Given the description of an element on the screen output the (x, y) to click on. 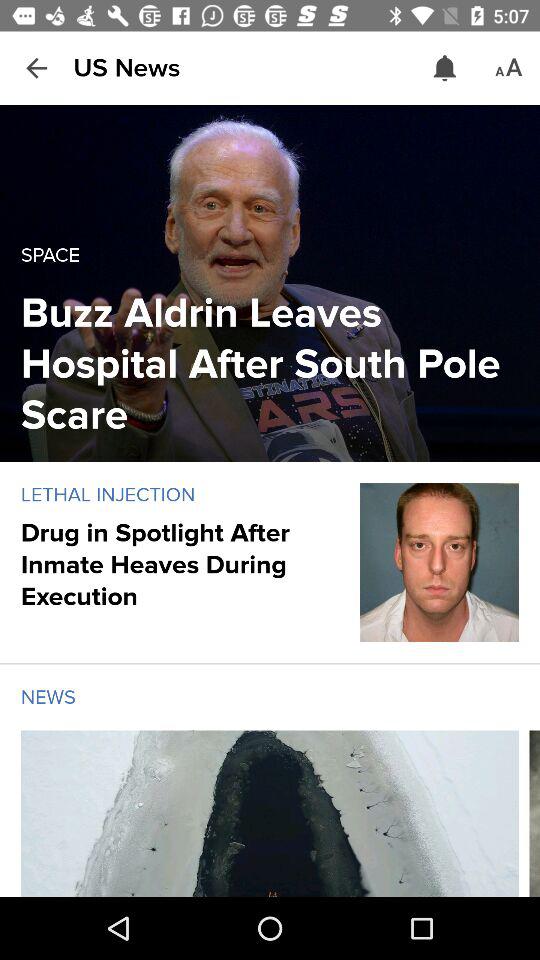
open the item to the right of the us news (444, 67)
